Given the description of an element on the screen output the (x, y) to click on. 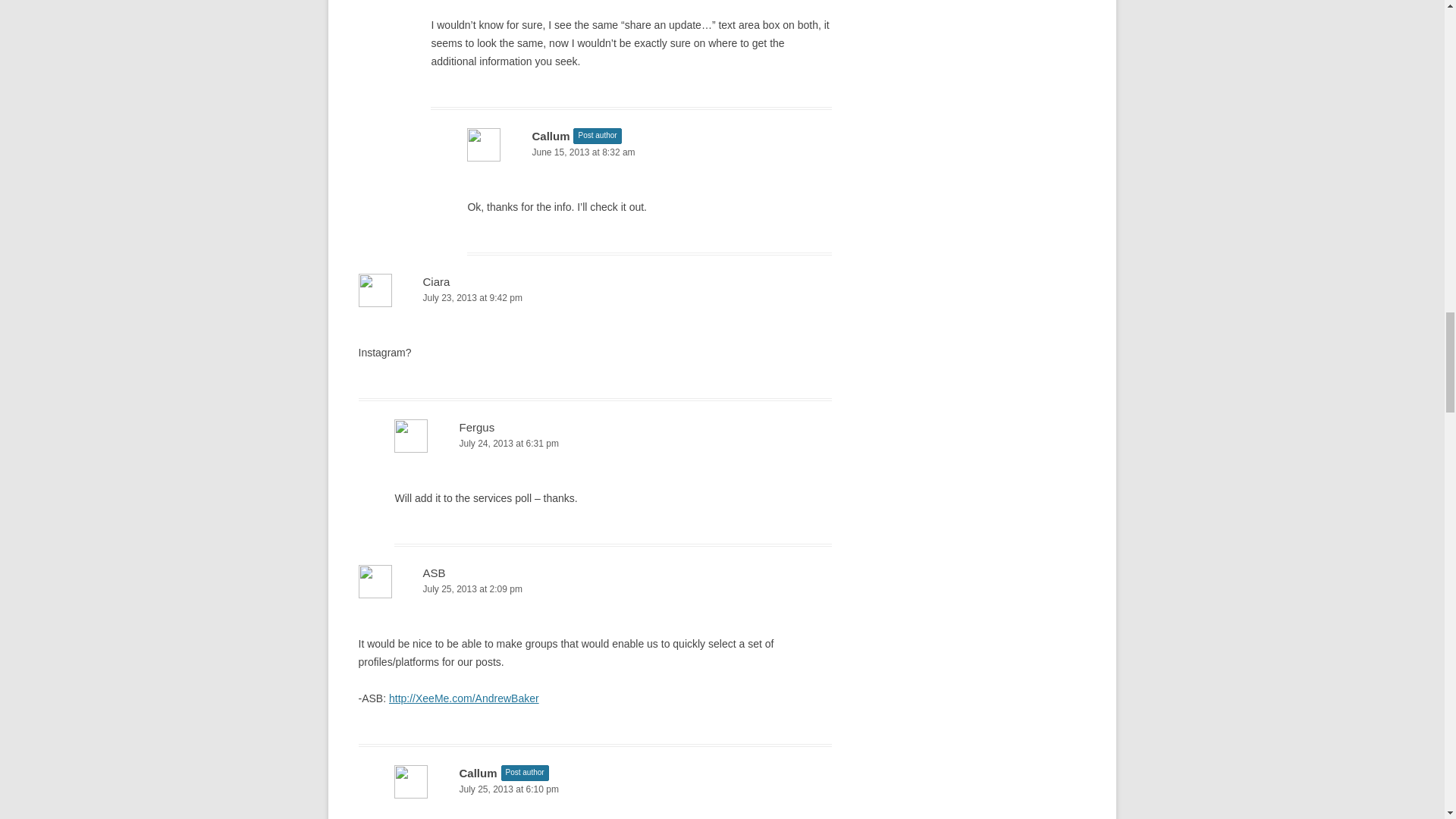
Callum (550, 135)
July 25, 2013 at 6:10 pm (612, 789)
July 24, 2013 at 6:31 pm (612, 443)
June 15, 2013 at 8:32 am (649, 152)
July 25, 2013 at 2:09 pm (594, 589)
July 23, 2013 at 9:42 pm (594, 298)
Callum (477, 772)
Fergus (476, 427)
ASB (434, 572)
